Given the description of an element on the screen output the (x, y) to click on. 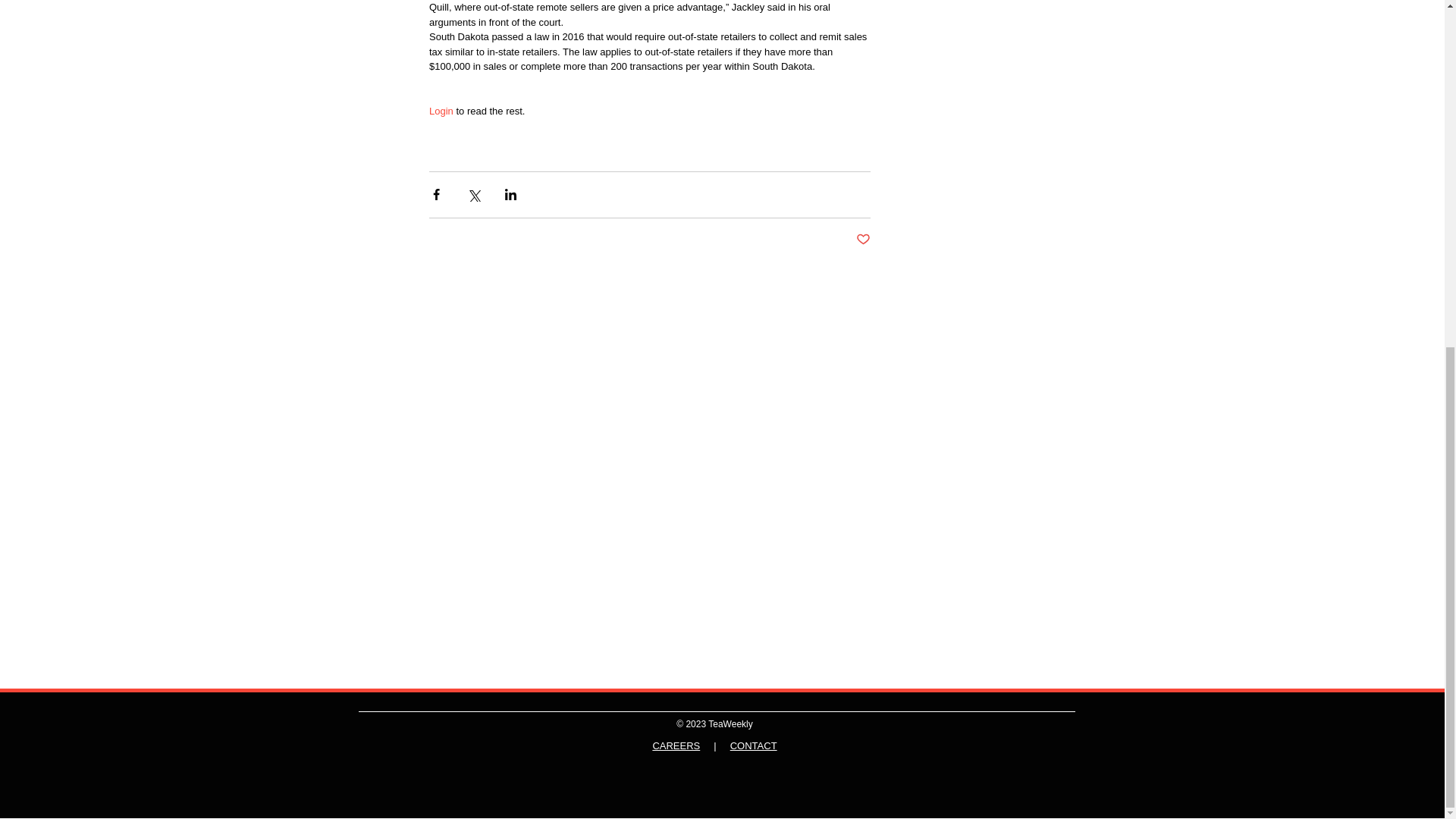
CAREERS (676, 745)
CONTACT (753, 745)
Login (440, 110)
Post not marked as liked (862, 239)
